Given the description of an element on the screen output the (x, y) to click on. 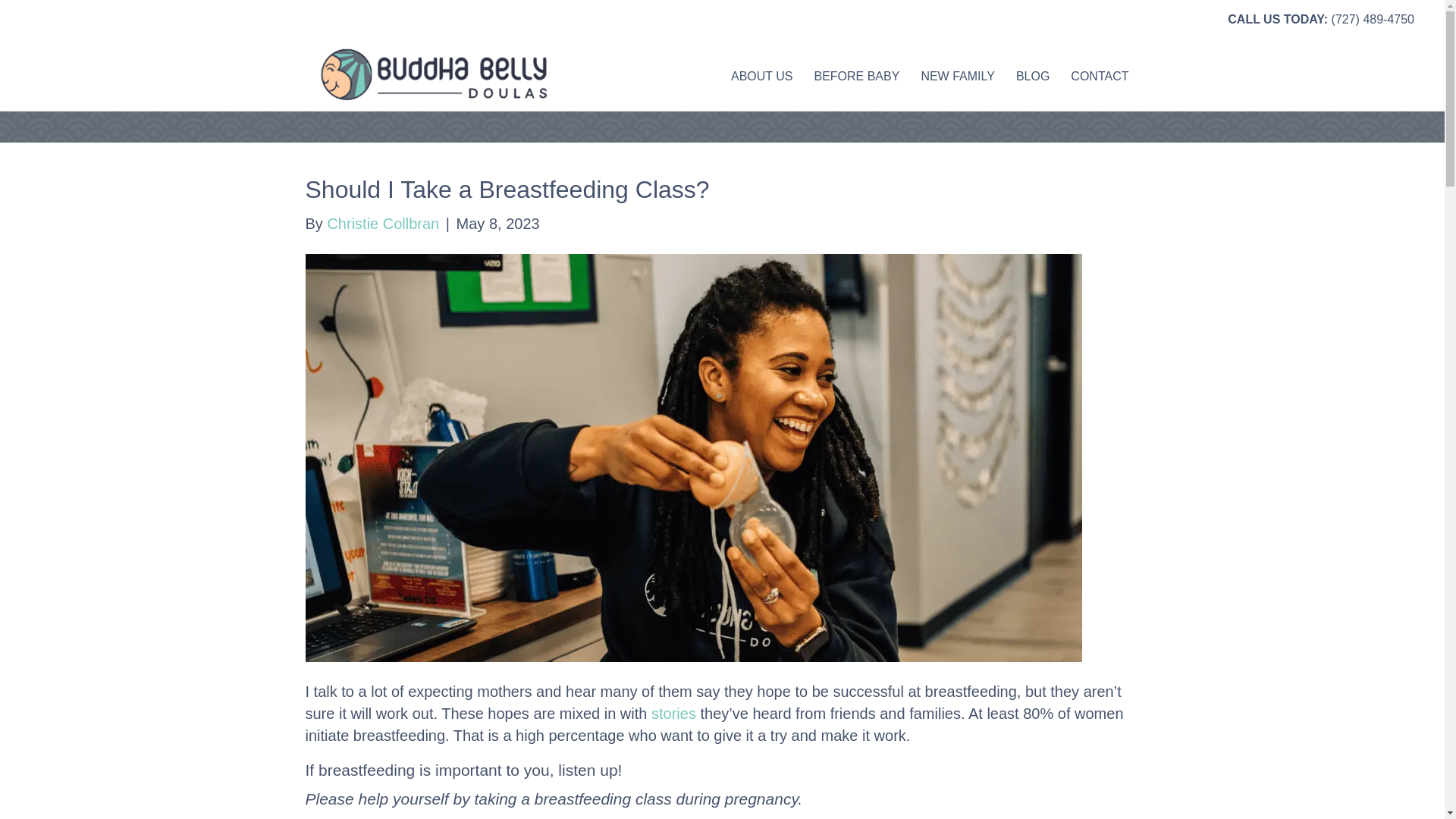
BEFORE BABY (856, 76)
ABOUT US (761, 76)
